Given the description of an element on the screen output the (x, y) to click on. 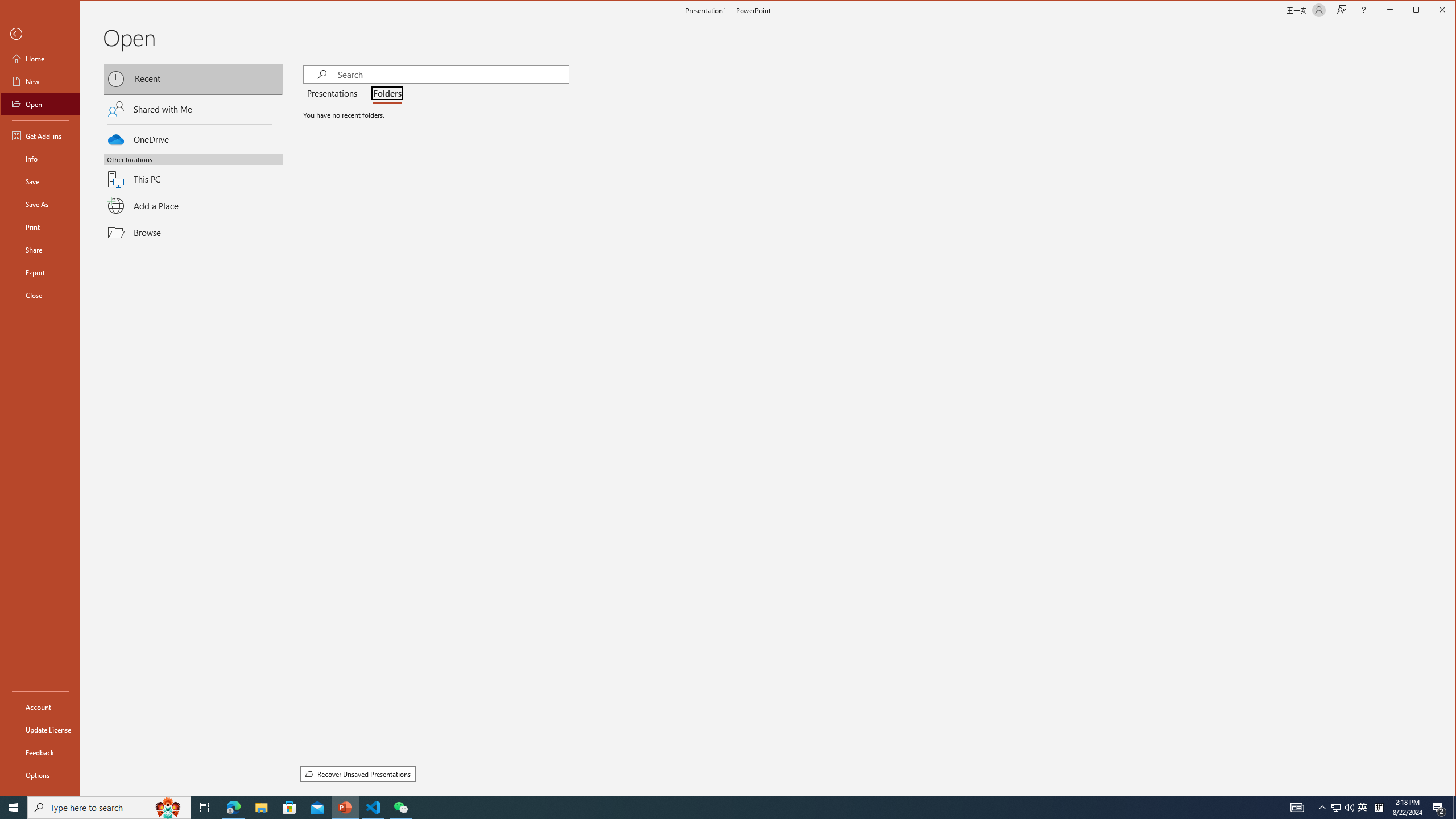
Recent (193, 79)
Update License (40, 729)
Account (40, 706)
OneDrive (193, 137)
